Given the description of an element on the screen output the (x, y) to click on. 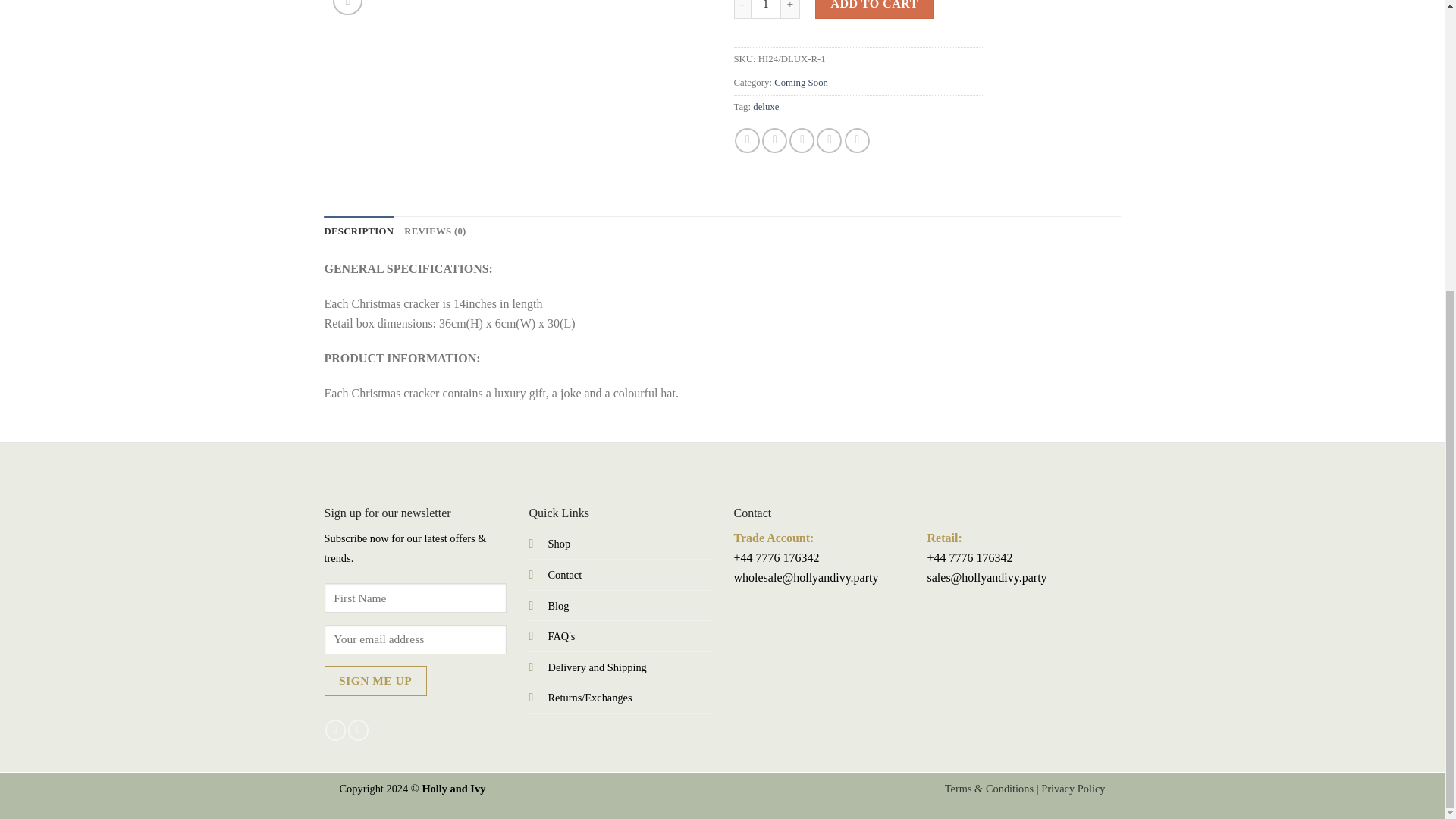
Zoom (347, 7)
Sign me up (375, 680)
Share on LinkedIn (856, 140)
Share on Facebook (747, 140)
Share on Twitter (774, 140)
1 (765, 9)
Pin on Pinterest (828, 140)
Email to a Friend (801, 140)
